Given the description of an element on the screen output the (x, y) to click on. 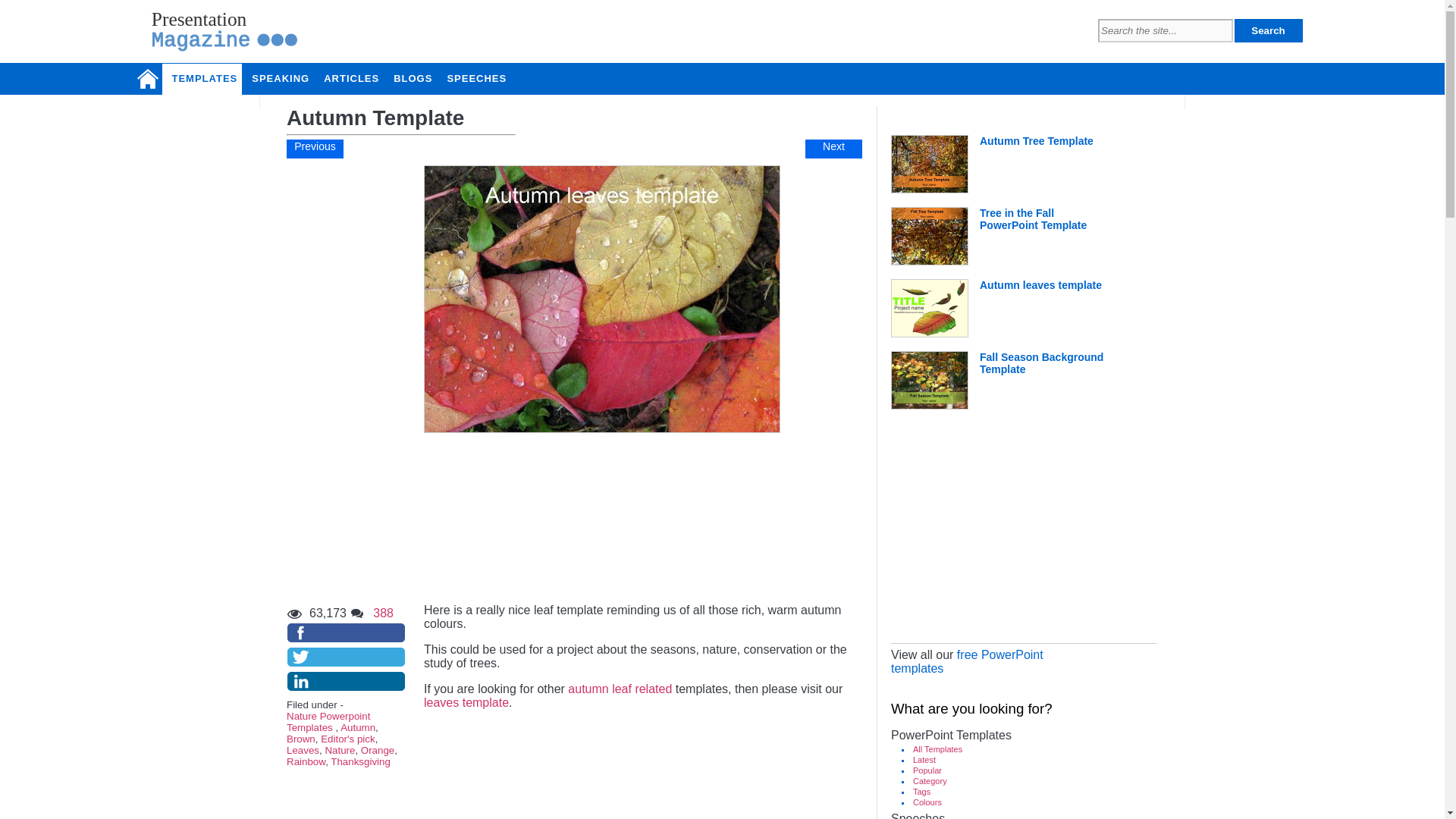
Advertisement (1004, 535)
Search (1268, 30)
Search (1268, 30)
Advertisement (223, 32)
TEMPLATES (574, 519)
Search (210, 78)
